Given the description of an element on the screen output the (x, y) to click on. 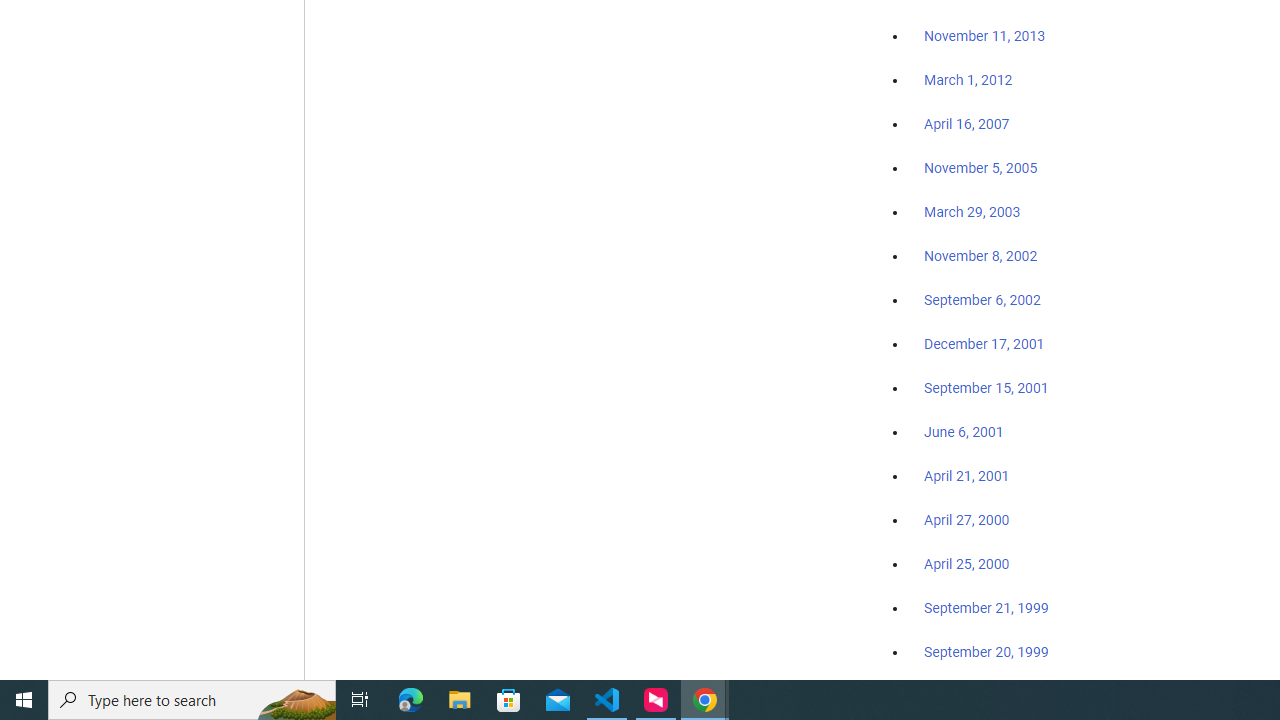
September 15, 2001 (986, 387)
April 21, 2001 (966, 476)
November 8, 2002 (981, 255)
June 6, 2001 (963, 431)
September 6, 2002 (982, 299)
September 21, 1999 (986, 608)
April 16, 2007 (966, 124)
April 25, 2000 (966, 564)
November 11, 2013 (984, 37)
September 20, 1999 (986, 651)
April 27, 2000 (966, 520)
November 5, 2005 (981, 168)
March 1, 2012 (968, 81)
March 29, 2003 (972, 212)
December 17, 2001 (984, 343)
